Given the description of an element on the screen output the (x, y) to click on. 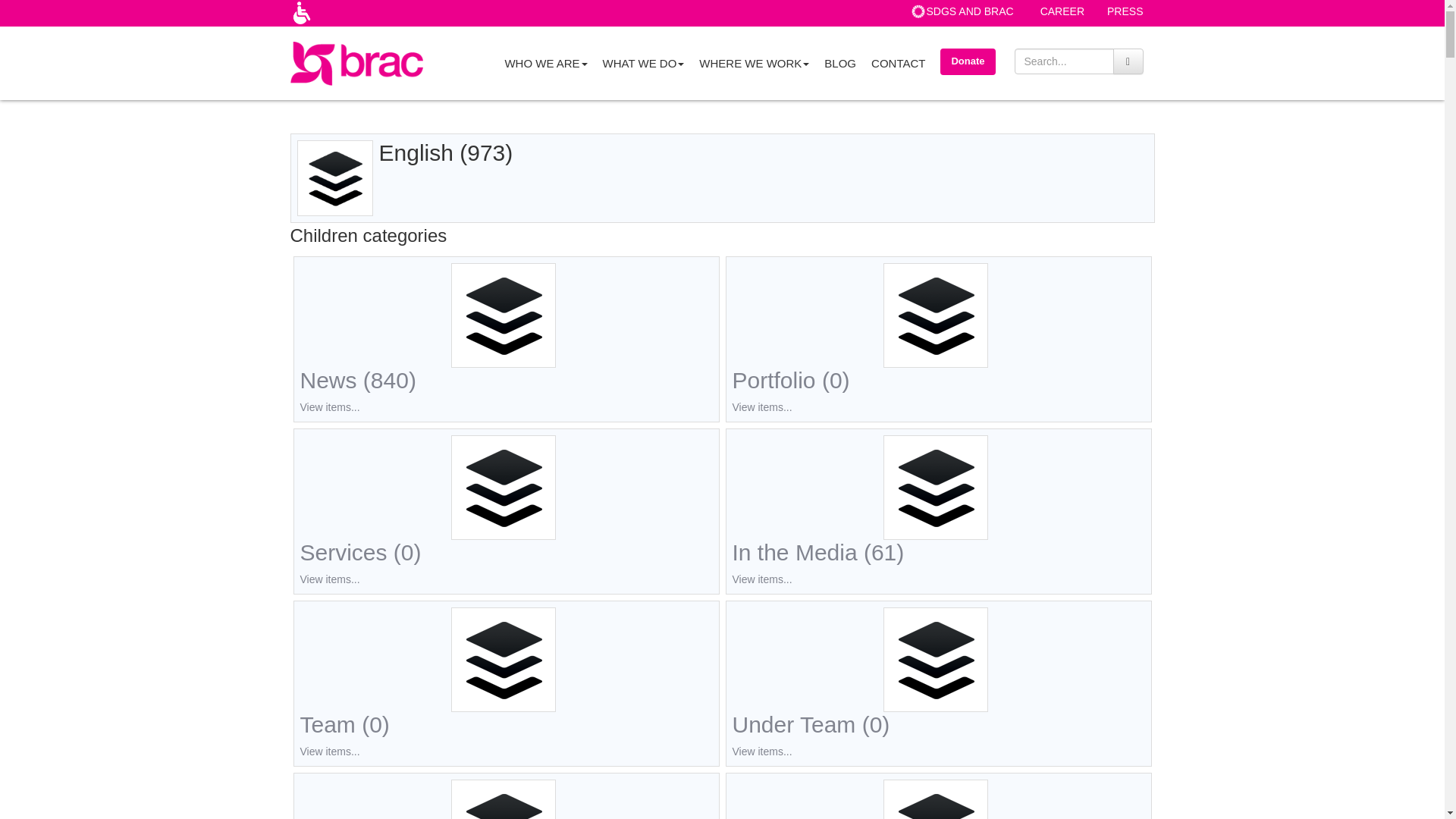
WHAT WE DO (644, 63)
WHO WE ARE (545, 63)
SDGS AND BRAC (970, 11)
PRESS (1125, 11)
Donate (967, 61)
CAREER (1062, 11)
WHERE WE WORK (753, 63)
